Given the description of an element on the screen output the (x, y) to click on. 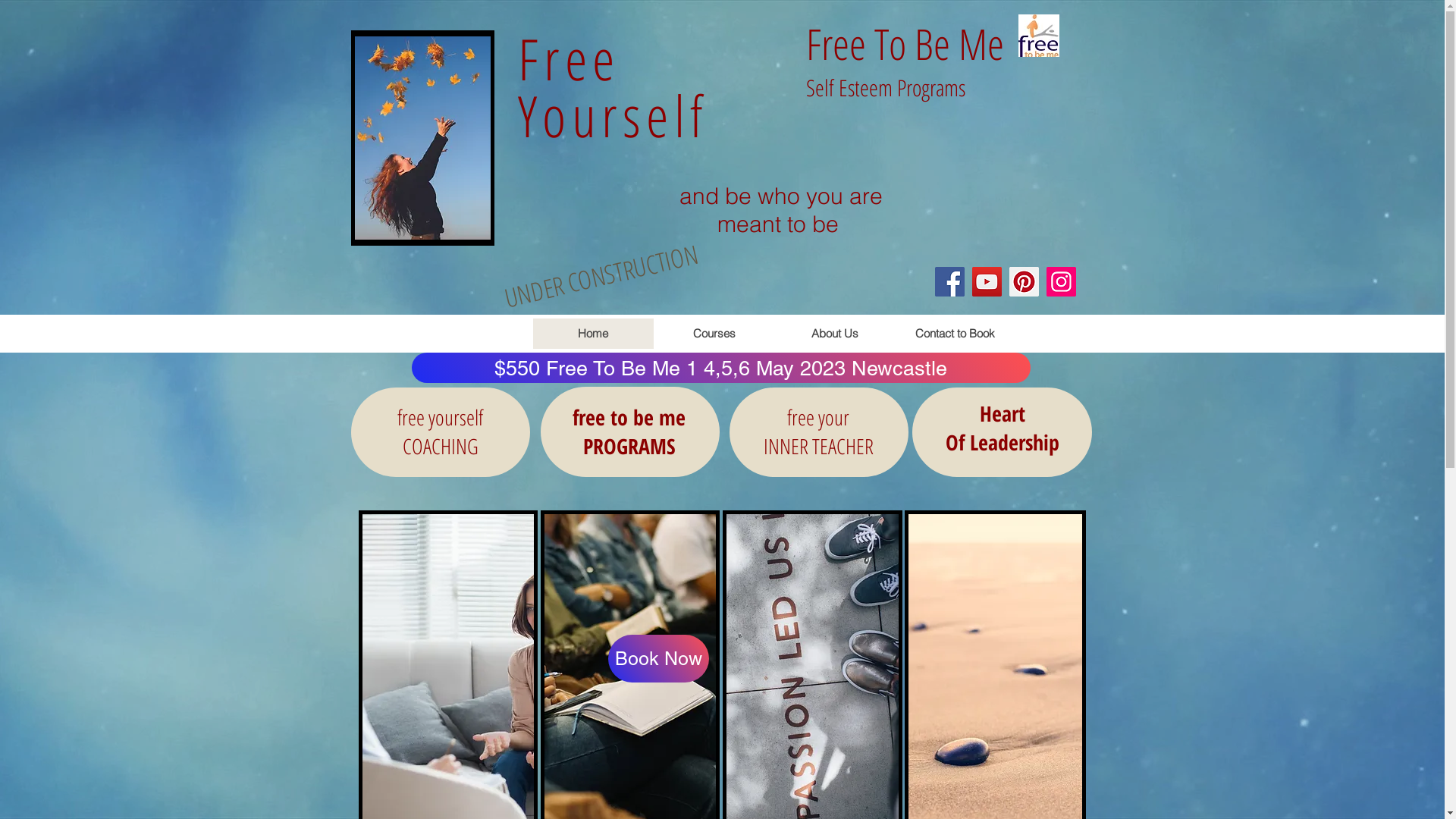
Courses Element type: text (713, 333)
Contact to Book Element type: text (954, 333)
$550 Free To Be Me 1 4,5,6 May 2023 Newcastle Element type: text (720, 367)
Home Element type: text (592, 333)
About Us Element type: text (833, 333)
Book Now Element type: text (658, 658)
Prestige Cleaning Services Port Stephens Element type: hover (421, 137)
